Given the description of an element on the screen output the (x, y) to click on. 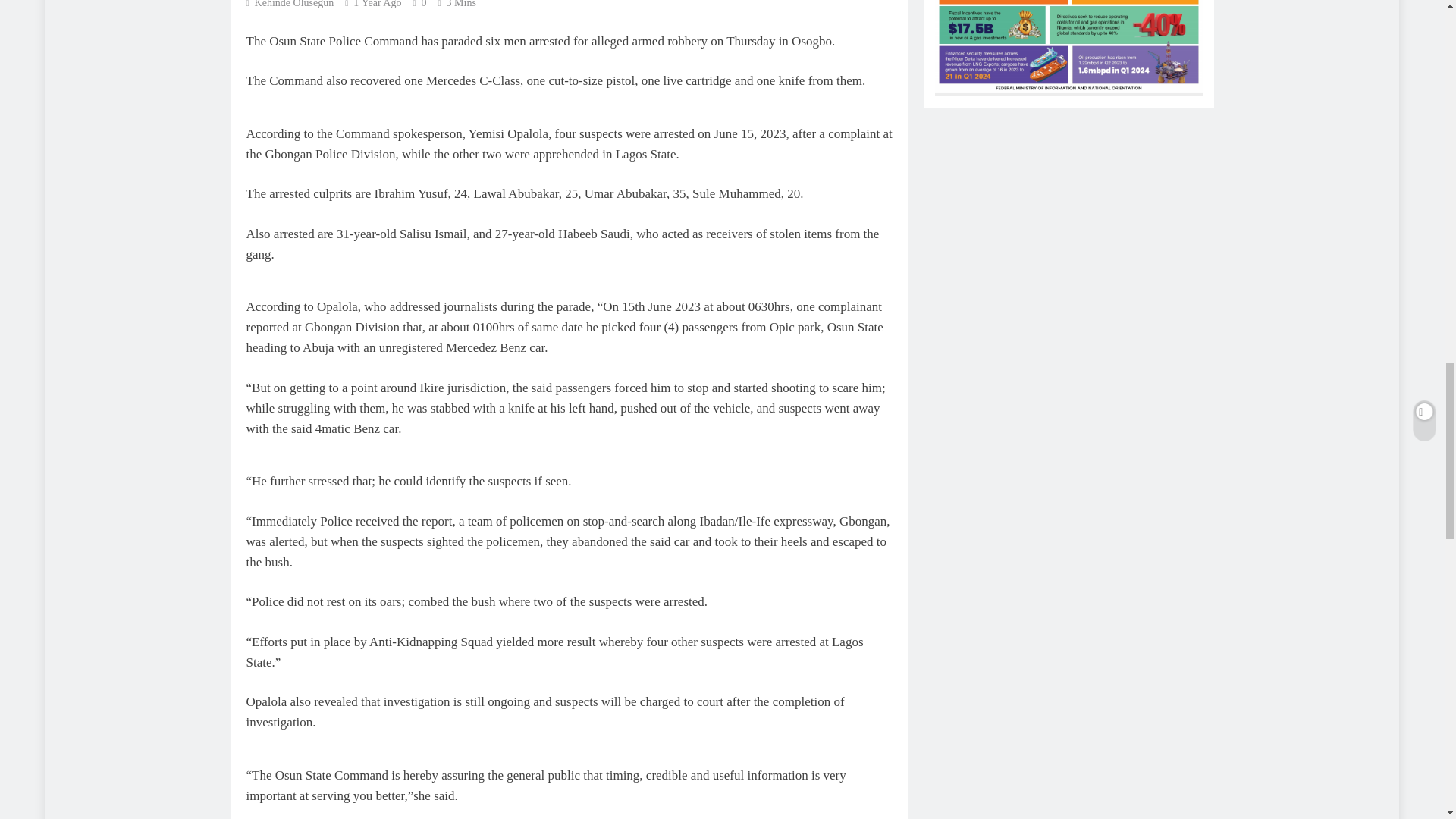
Kehinde Olusegun (289, 4)
1 Year Ago (377, 4)
